Given the description of an element on the screen output the (x, y) to click on. 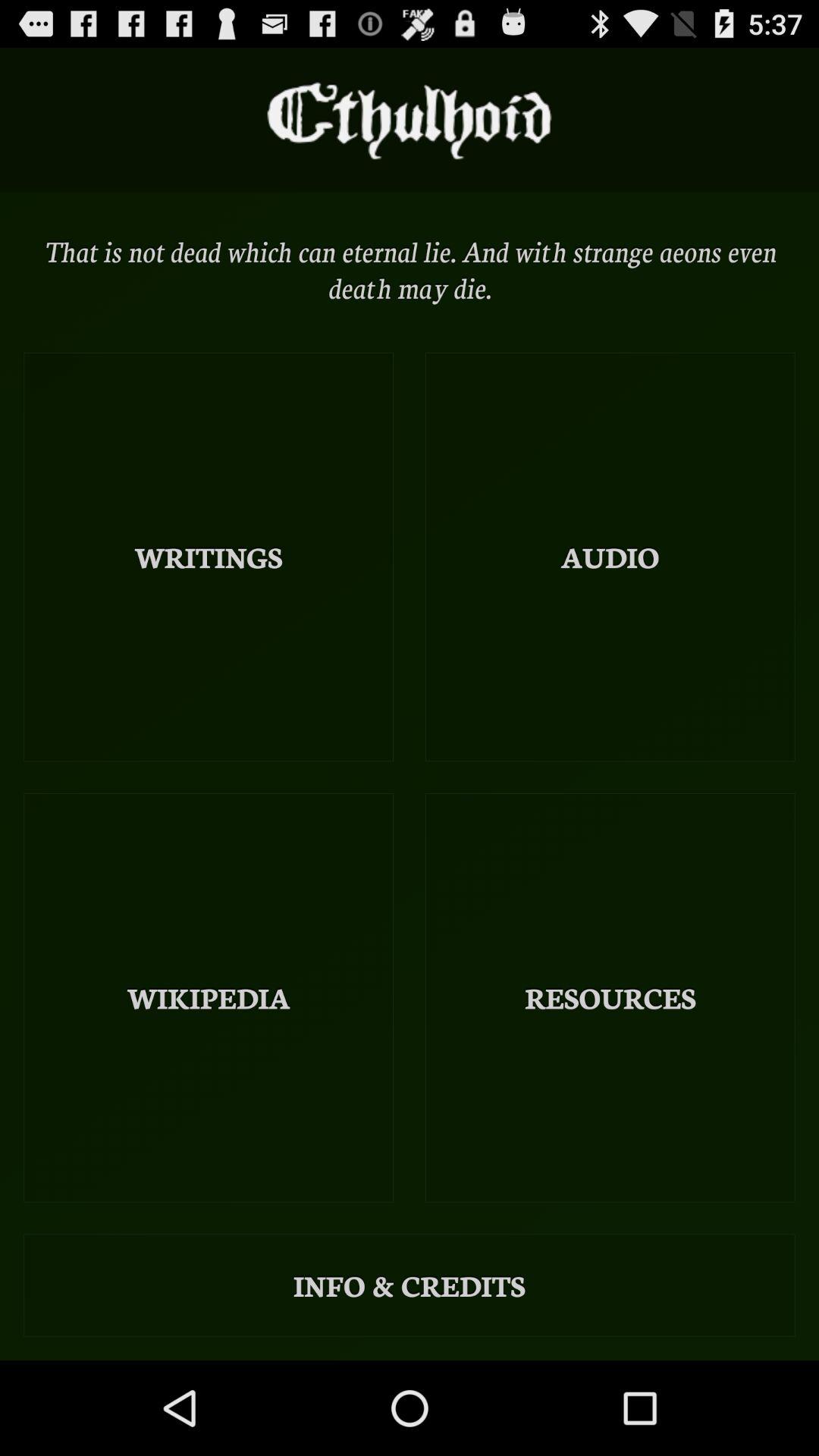
scroll to the writings item (208, 556)
